Given the description of an element on the screen output the (x, y) to click on. 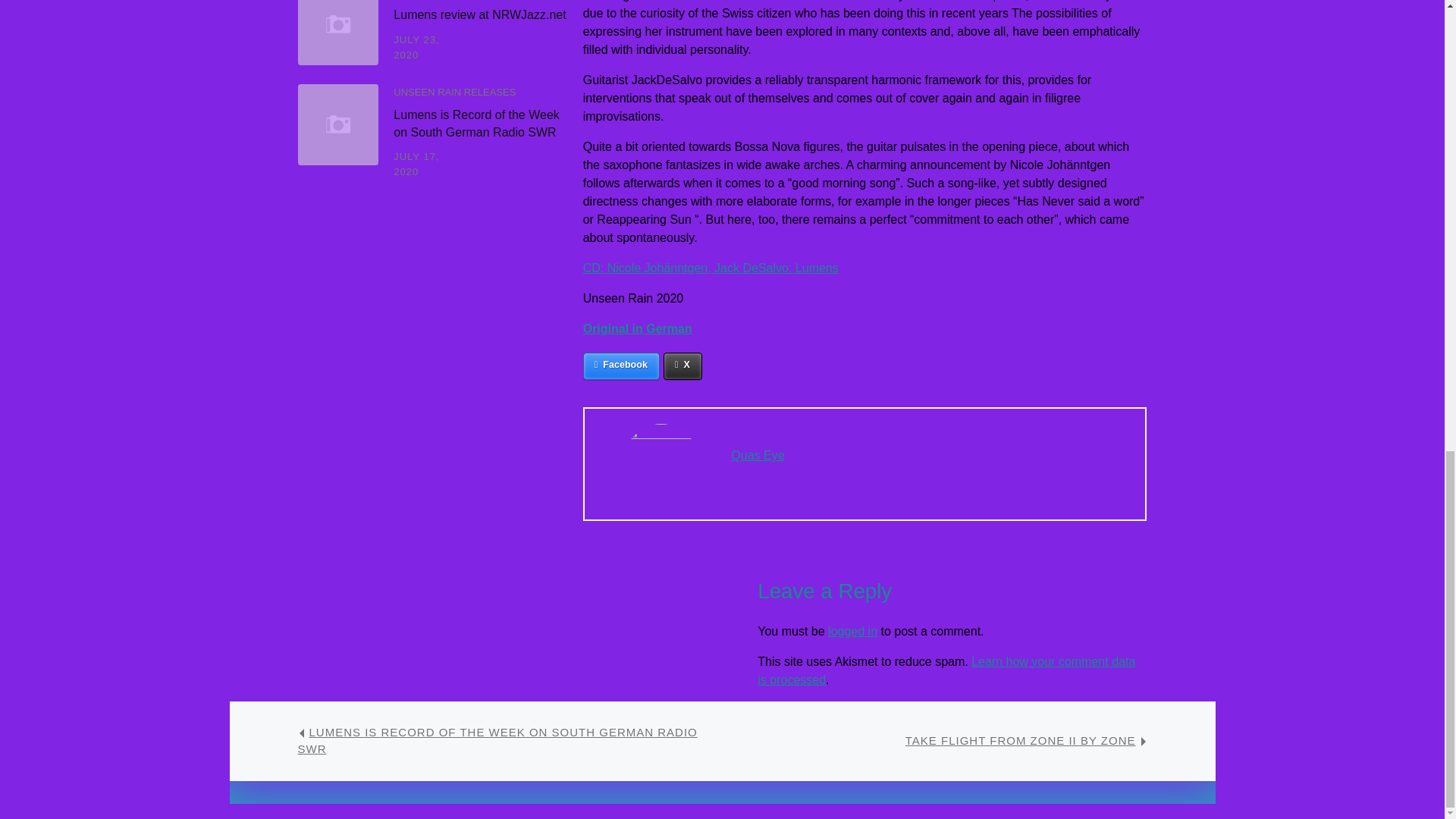
logged in (852, 631)
UNSEEN RAIN RELEASES (454, 91)
Facebook (621, 366)
Lumens is Record of the Week on South German Radio SWR (476, 123)
Quas Eye (757, 454)
X (682, 366)
Lumens review at NRWJazz.net (479, 14)
Share this article on Facebook (621, 366)
Original in German (638, 328)
LUMENS IS RECORD OF THE WEEK ON SOUTH GERMAN RADIO SWR (497, 740)
